Given the description of an element on the screen output the (x, y) to click on. 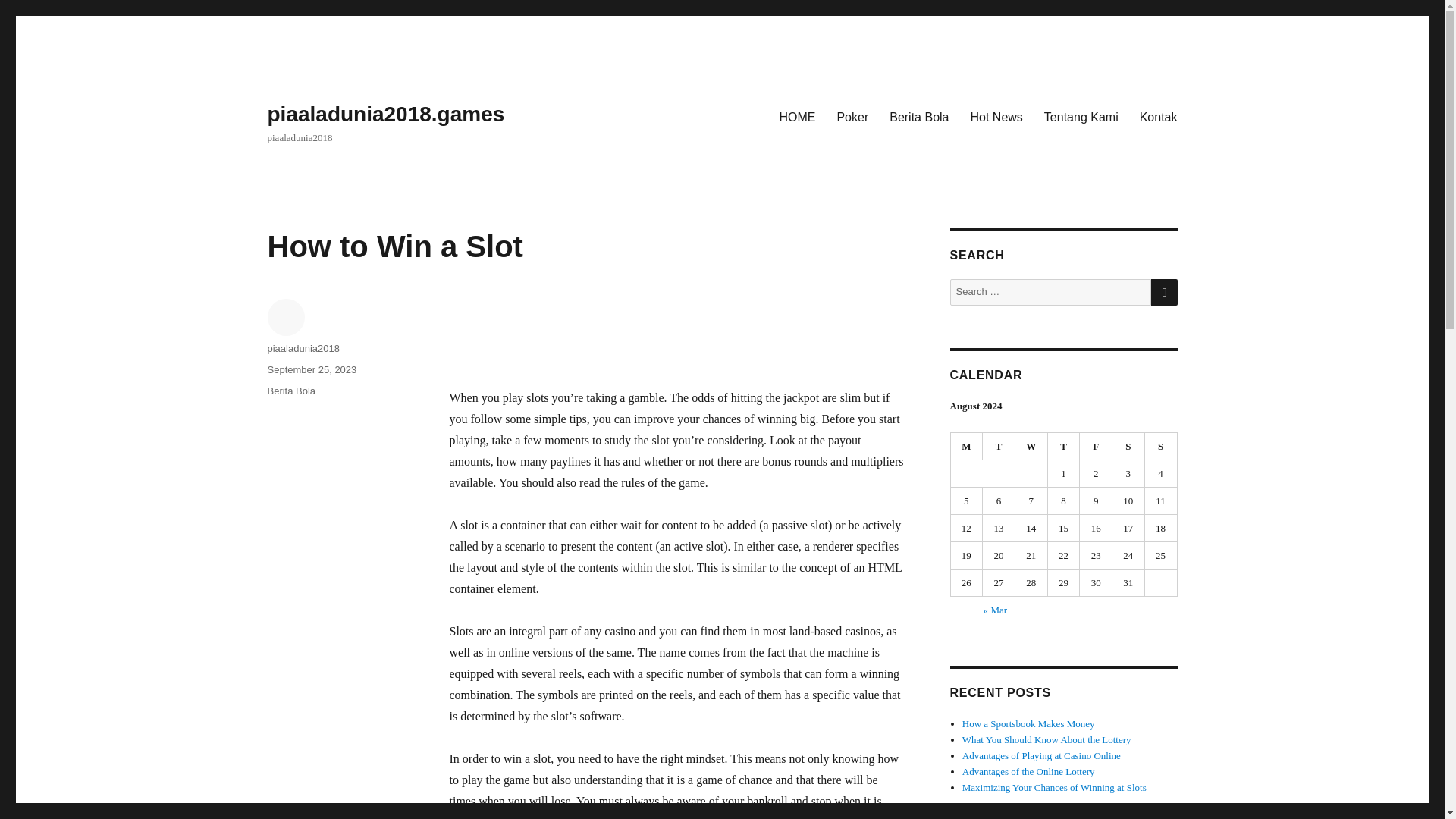
Advantages of Playing at Casino Online (1041, 755)
Sunday (1160, 446)
SEARCH (1164, 292)
Advantages of the Online Lottery (1028, 771)
HOME (796, 116)
Tentang Kami (1081, 116)
Berita Bola (919, 116)
Kontak (1158, 116)
Tuesday (998, 446)
Hot News (995, 116)
